Given the description of an element on the screen output the (x, y) to click on. 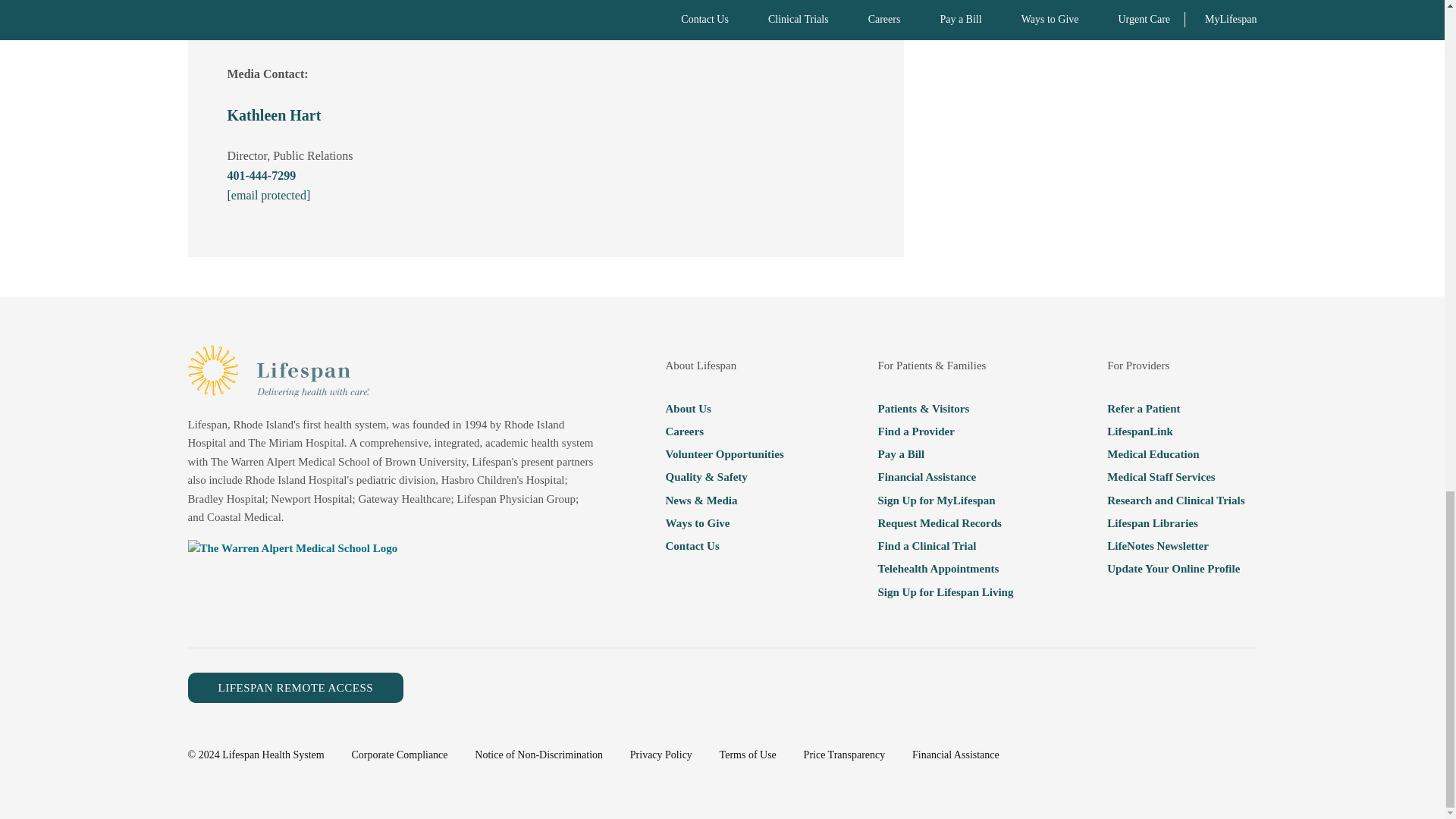
Find a clinical trial (945, 546)
Information about financial assistance (945, 476)
Sign up or access the MyLifespan online patient portal (945, 500)
How to request medical records (945, 523)
How to participate in a telehealth appointment (945, 568)
Ways to give to Lifespan hospitals (724, 523)
Sign up for the Lifespan Living e-newsletter (945, 591)
Find a Lifespan provider (945, 431)
Information about Lifespan Link (1175, 431)
How to refer a patient to a Lifespan service or provider (1175, 407)
Pay a bill online (945, 454)
